Given the description of an element on the screen output the (x, y) to click on. 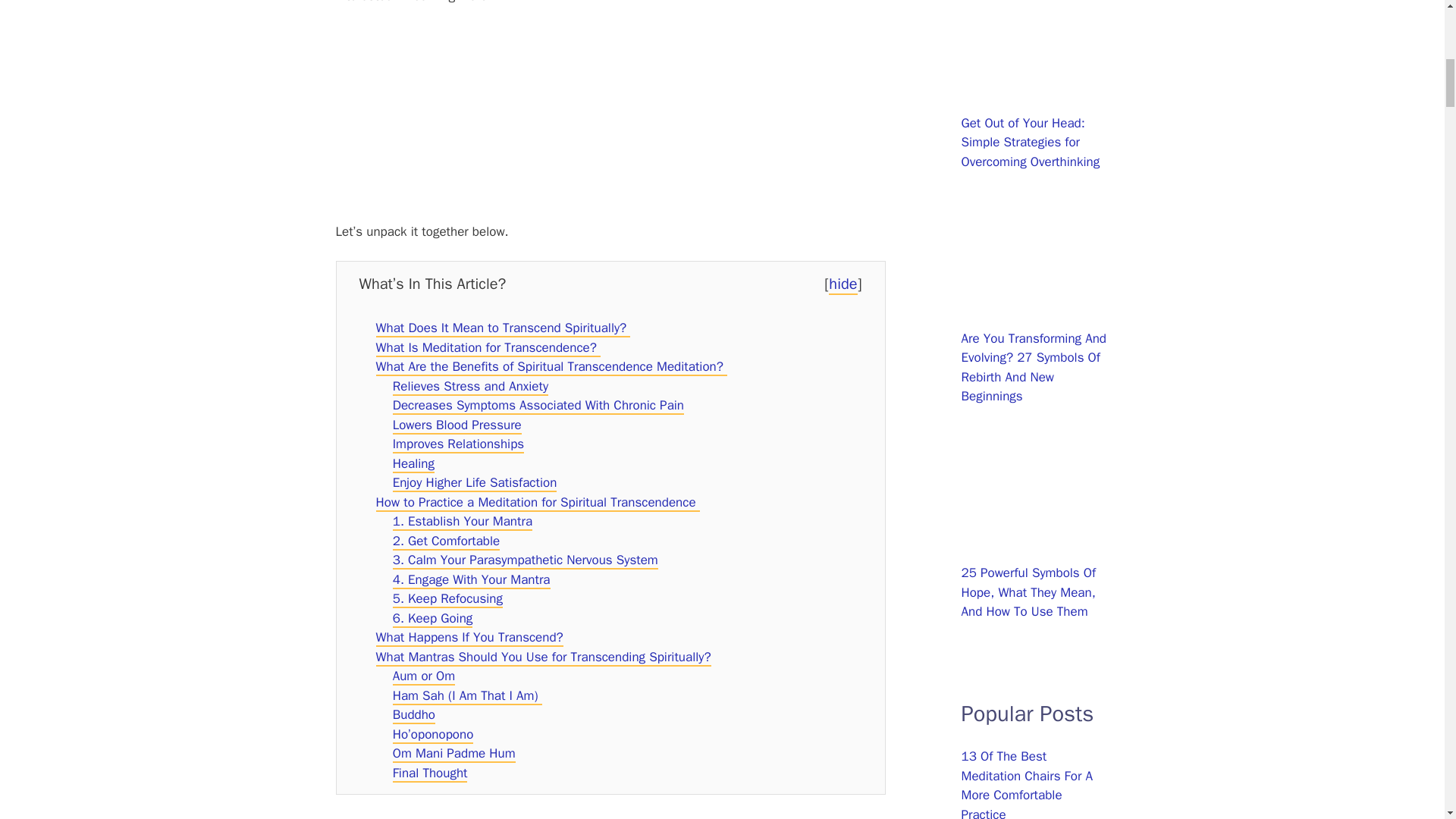
4. Engage With Your Mantra (471, 579)
Healing (413, 464)
Aum or Om (424, 676)
Improves Relationships (458, 444)
What Does It Mean to Transcend Spiritually?  (502, 328)
What Is Meditation for Transcendence?  (487, 348)
3. Calm Your Parasympathetic Nervous System (525, 560)
Buddho (414, 714)
5. Keep Refocusing (447, 599)
What Mantras Should You Use for Transcending Spiritually? (543, 657)
Decreases Symptoms Associated With Chronic Pain (538, 405)
Om Mani Padme Hum (454, 753)
Enjoy Higher Life Satisfaction (475, 483)
1. Establish Your Mantra (462, 521)
hide (842, 284)
